Given the description of an element on the screen output the (x, y) to click on. 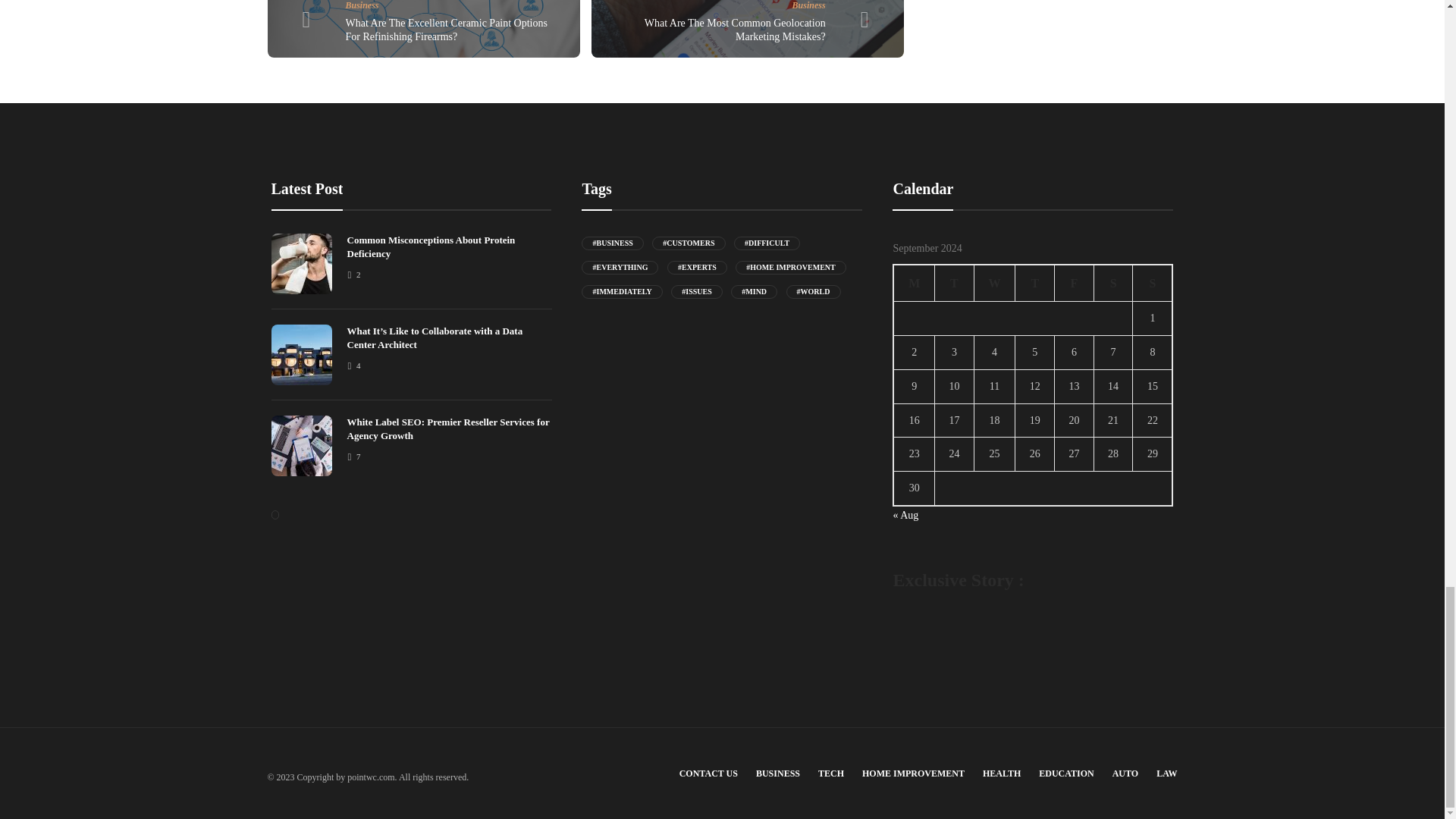
Sunday (1152, 283)
Monday (913, 283)
Thursday (1034, 283)
Tuesday (954, 283)
Saturday (1112, 283)
Wednesday (994, 283)
Friday (1074, 283)
